Given the description of an element on the screen output the (x, y) to click on. 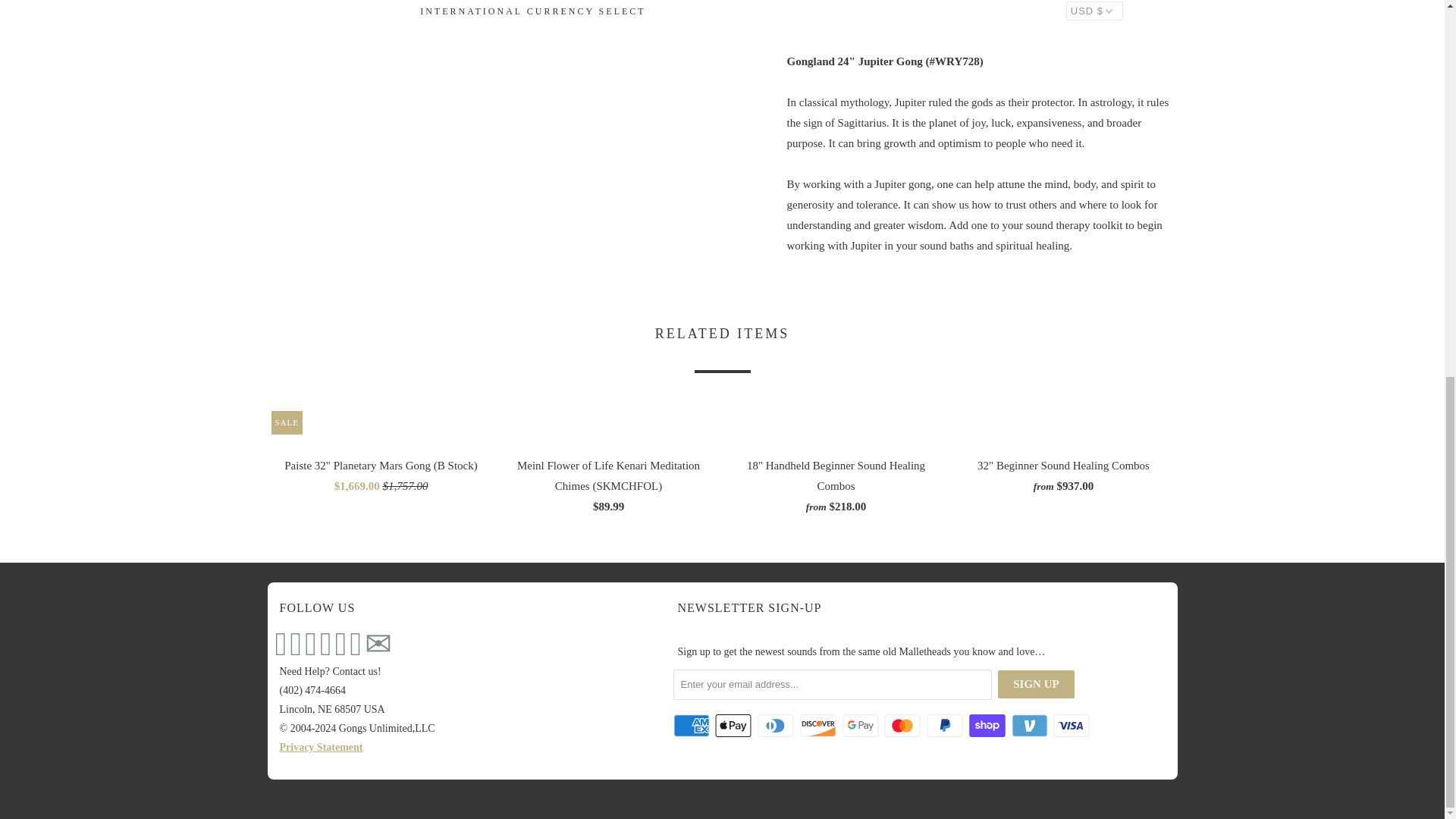
Sign Up (1035, 684)
